Given the description of an element on the screen output the (x, y) to click on. 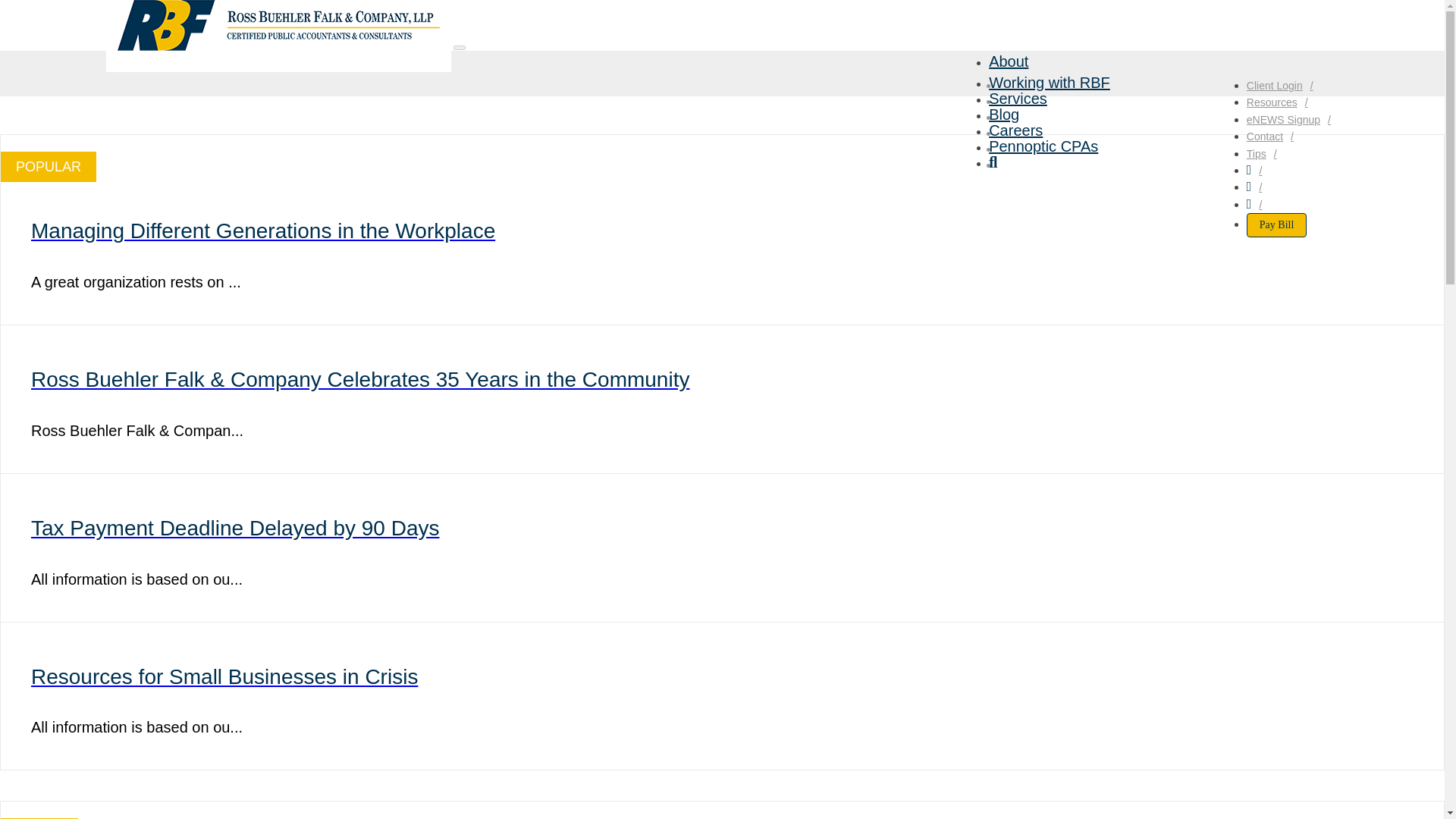
Tips (1265, 153)
Client Login (1283, 85)
eNEWS Signup (1292, 119)
Working with RBF (1048, 82)
Resources (1281, 102)
Pay Bill (1276, 224)
Blog (1003, 114)
About (1007, 61)
Contact (1273, 136)
Services (1017, 98)
Pennoptic CPAs (1042, 146)
Careers (1015, 130)
Toggle navigation (458, 47)
